Given the description of an element on the screen output the (x, y) to click on. 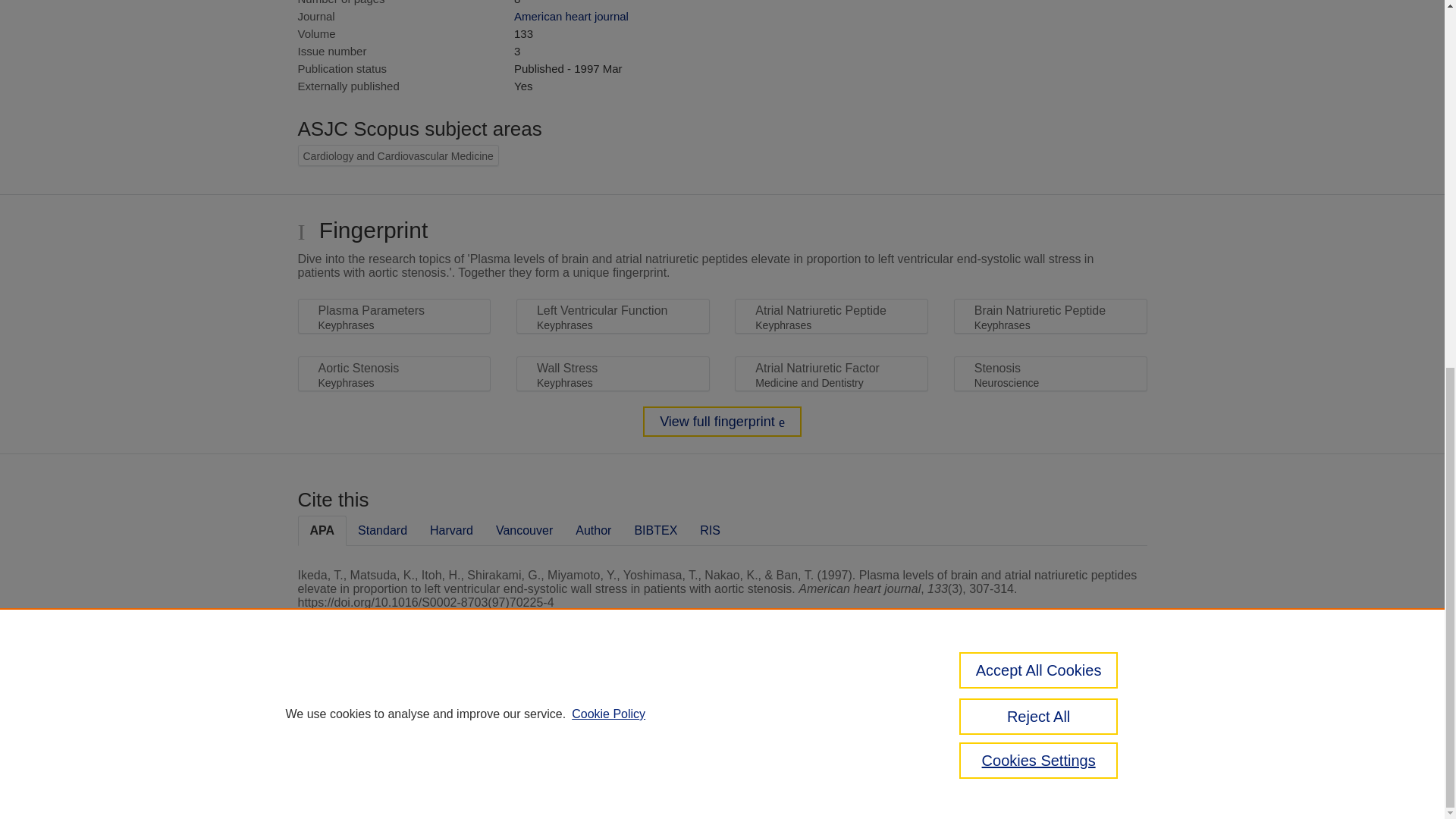
About web accessibility (1088, 713)
Cookies Settings (334, 781)
Scopus (394, 708)
use of cookies (796, 760)
Report vulnerability (1088, 745)
American heart journal (570, 15)
Pure (362, 708)
Elsevier B.V. (506, 728)
View full fingerprint (722, 421)
Cookie Policy (608, 49)
